Given the description of an element on the screen output the (x, y) to click on. 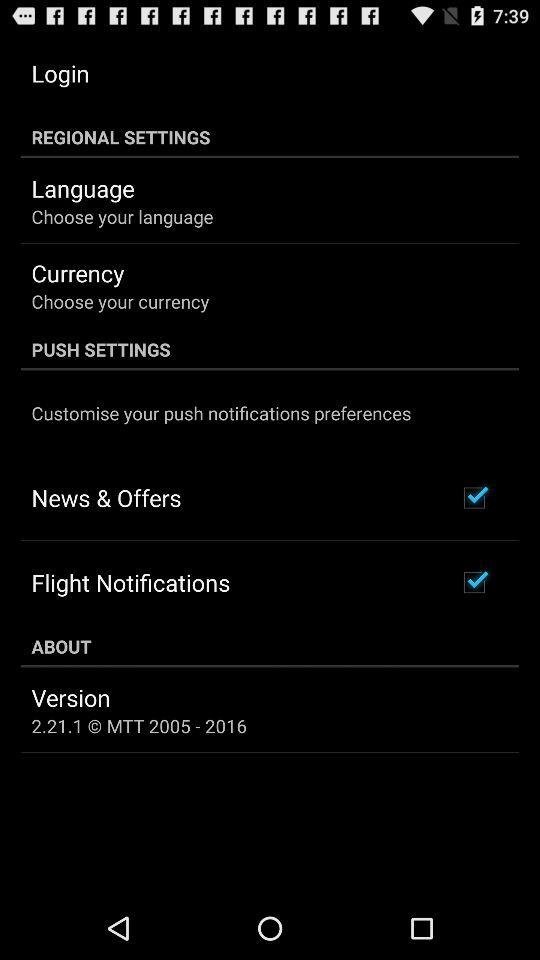
press the regional settings (270, 137)
